Given the description of an element on the screen output the (x, y) to click on. 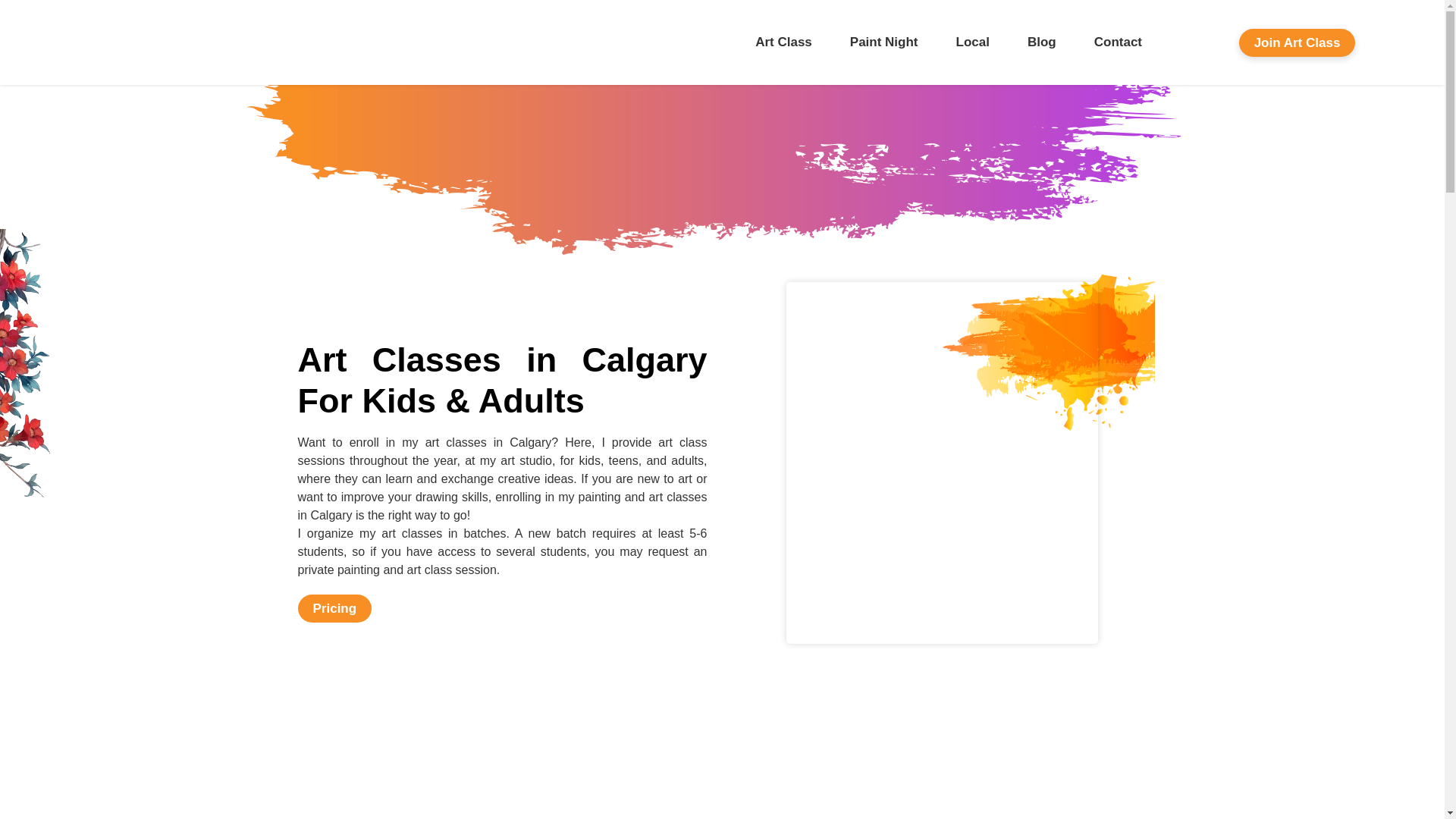
Contact (1117, 42)
Paint Night (884, 42)
Join Art Class (1297, 42)
Local (973, 42)
Blog (1042, 42)
Art Class (783, 42)
Pricing (334, 608)
